Given the description of an element on the screen output the (x, y) to click on. 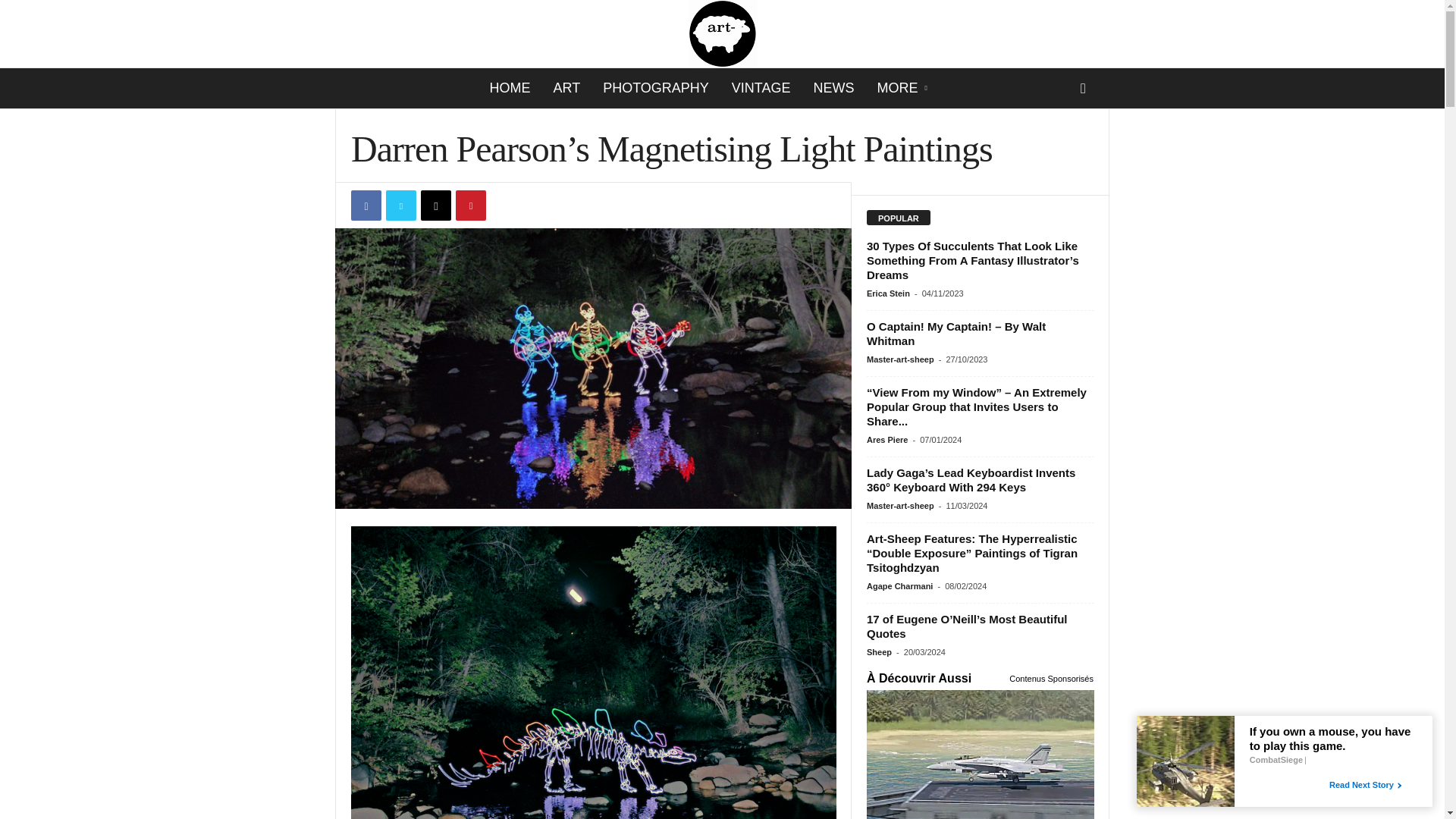
MORE (904, 87)
VINTAGE (761, 87)
Pinterest (470, 205)
PHOTOGRAPHY (655, 87)
HOME (509, 87)
ART (566, 87)
Twitter (400, 205)
Facebook (365, 205)
Email (435, 205)
NEWS (834, 87)
